Given the description of an element on the screen output the (x, y) to click on. 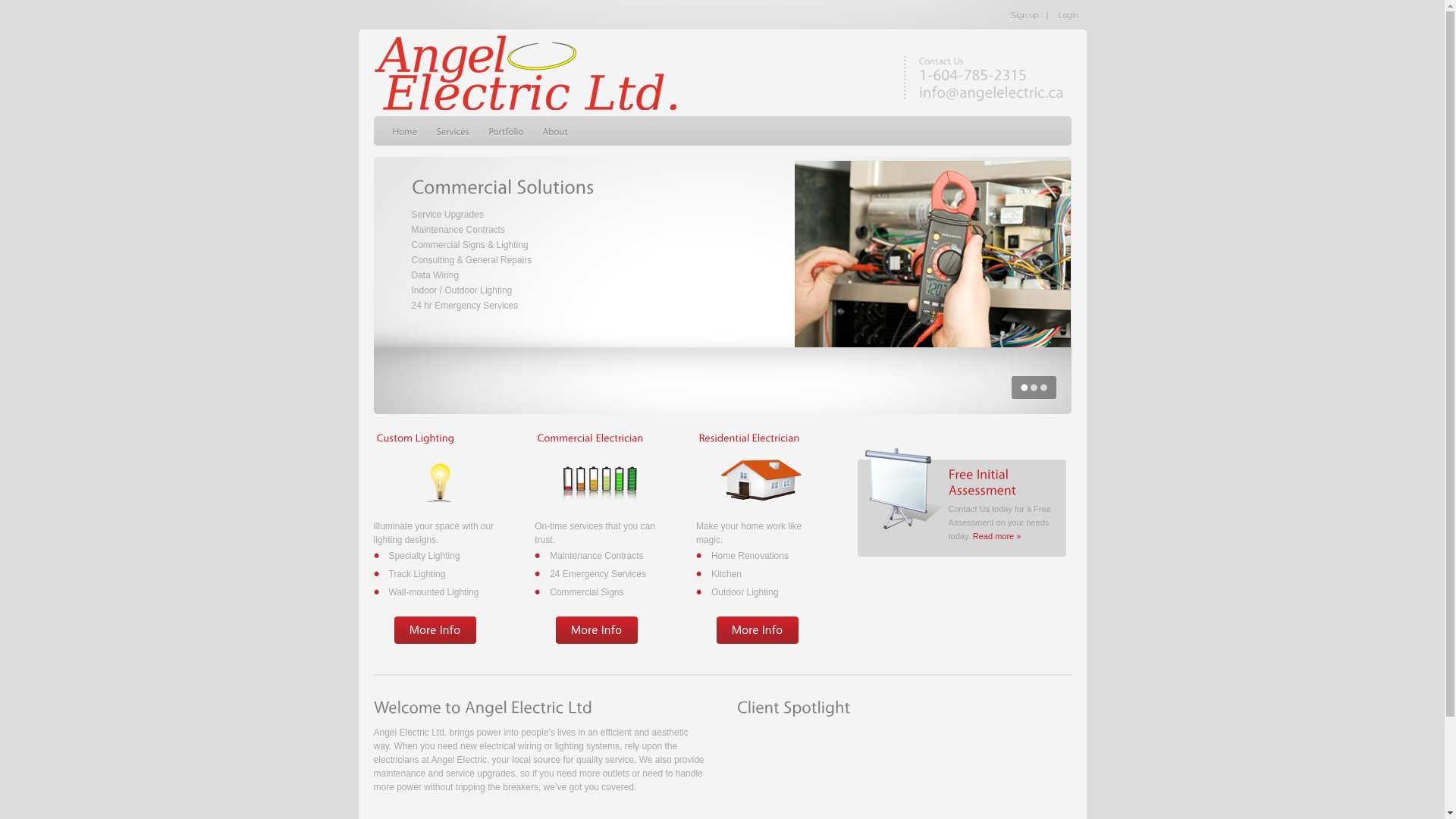
Sign up Element type: text (1023, 14)
2 Element type: text (1032, 387)
Login Element type: text (1068, 14)
next Element type: text (1051, 274)
3 Element type: text (1043, 387)
1 Element type: text (1023, 387)
